Given the description of an element on the screen output the (x, y) to click on. 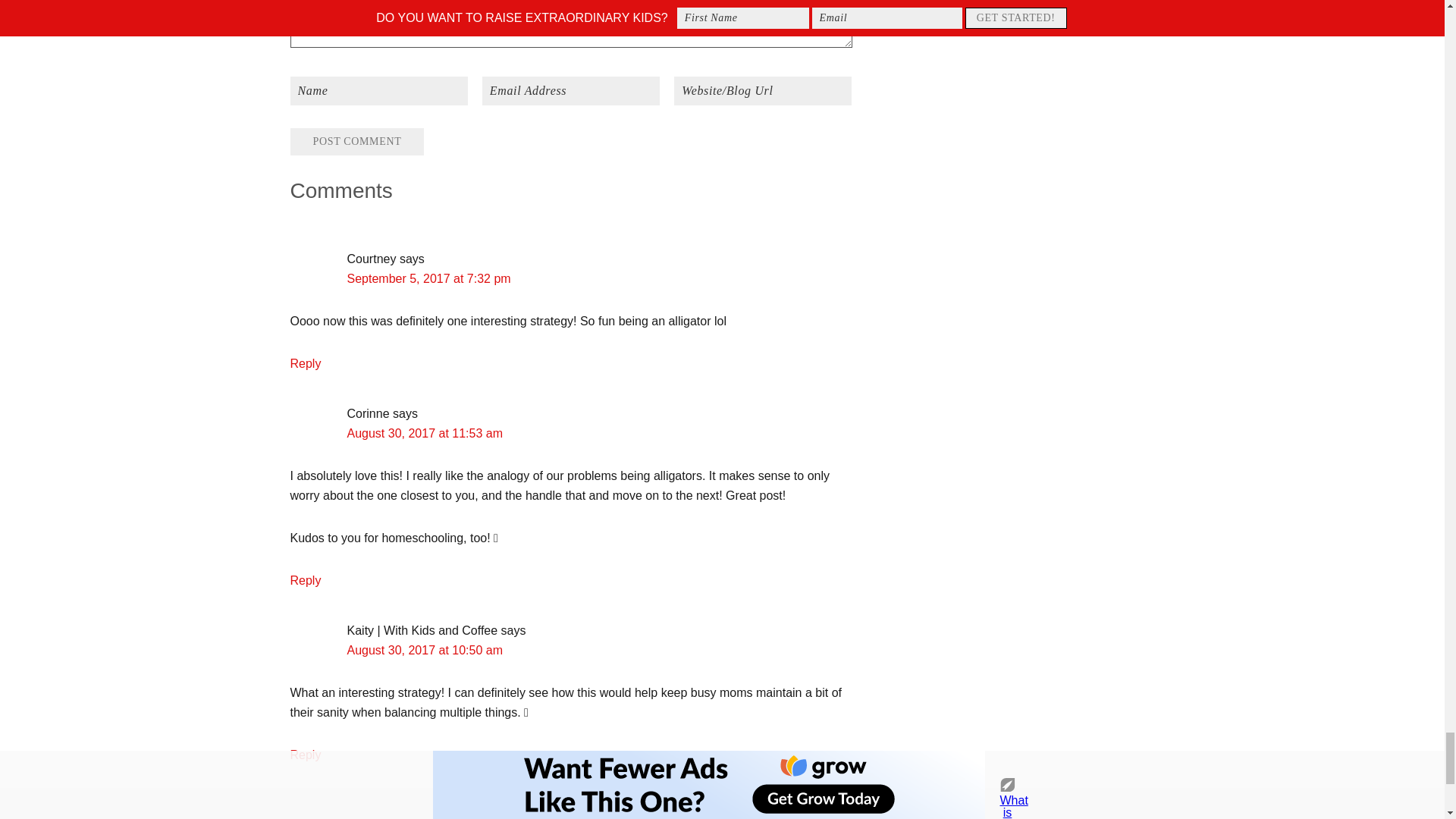
September 5, 2017 at 7:32 pm (429, 278)
Post Comment (356, 141)
Post Comment (356, 141)
